Given the description of an element on the screen output the (x, y) to click on. 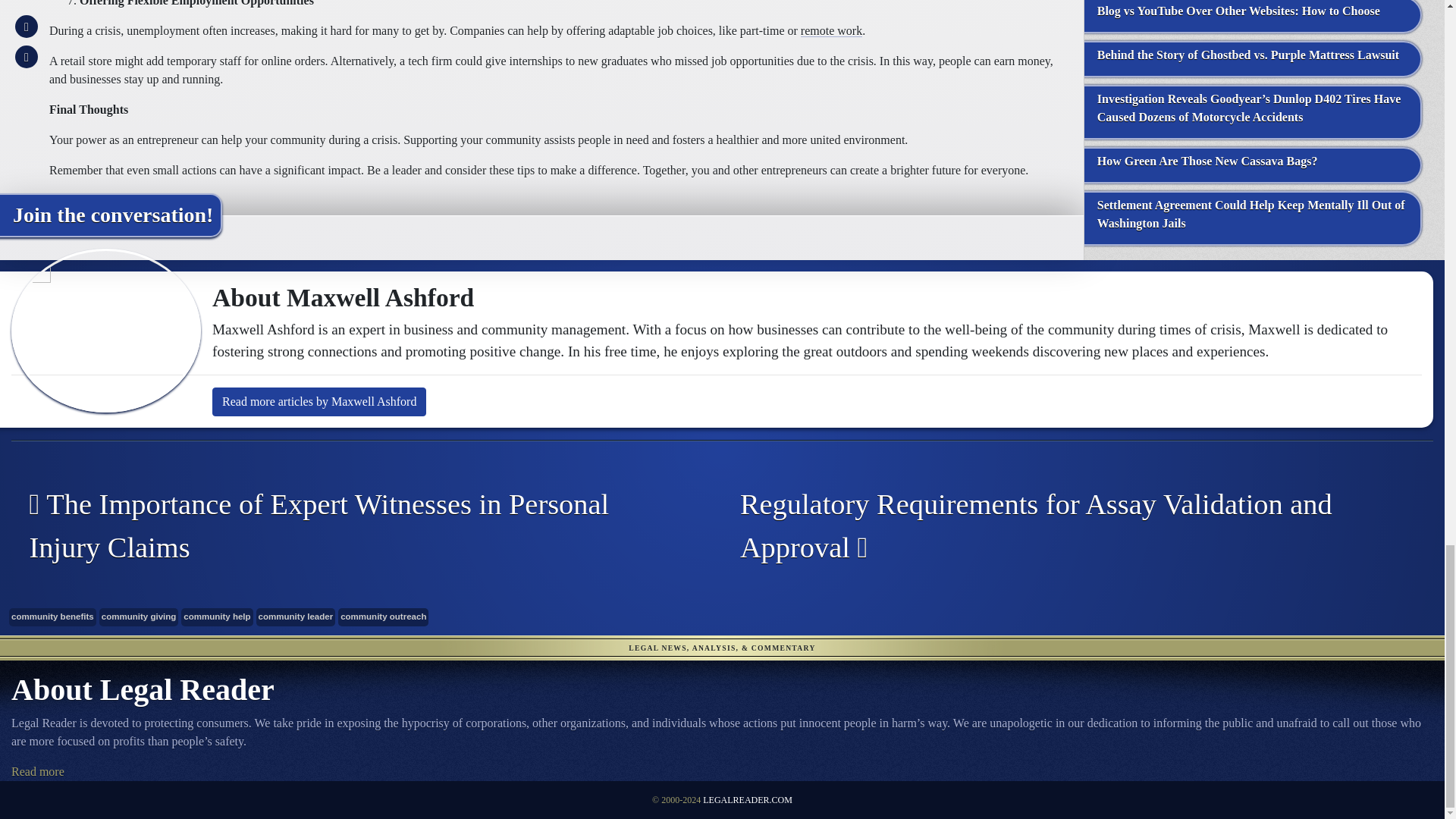
community benefits (52, 616)
community help (215, 616)
community leader (296, 616)
Read more (37, 771)
Read more articles by Maxwell Ashford (319, 401)
Regulatory Requirements for Assay Validation and Approval  (1066, 526)
remote work (830, 30)
Read more articles by Maxwell Ashford (319, 401)
community giving (139, 616)
